Given the description of an element on the screen output the (x, y) to click on. 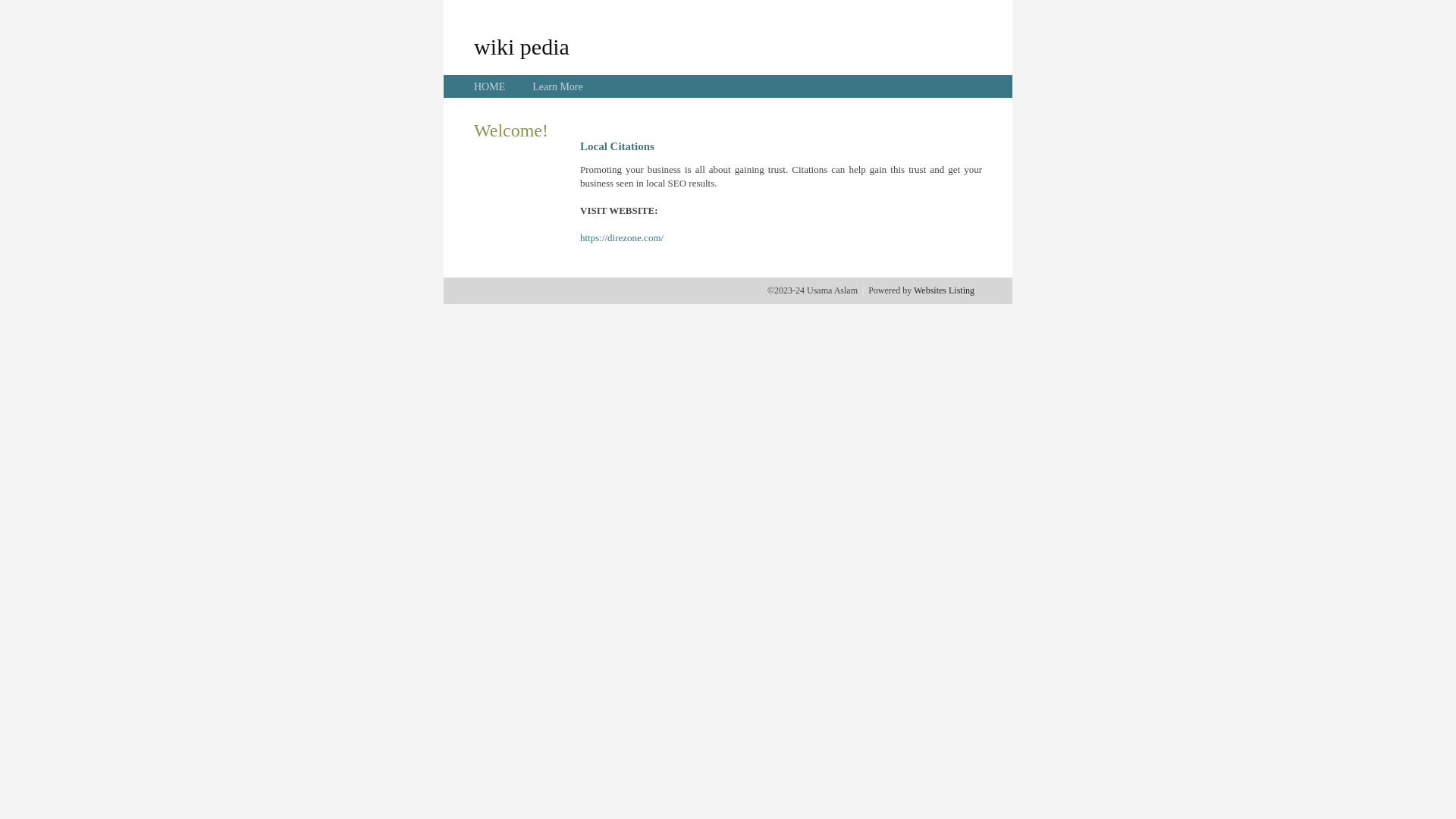
Websites Listing Element type: text (943, 290)
Learn More Element type: text (557, 86)
https://direzone.com/ Element type: text (621, 237)
wiki pedia Element type: text (521, 46)
HOME Element type: text (489, 86)
